Given the description of an element on the screen output the (x, y) to click on. 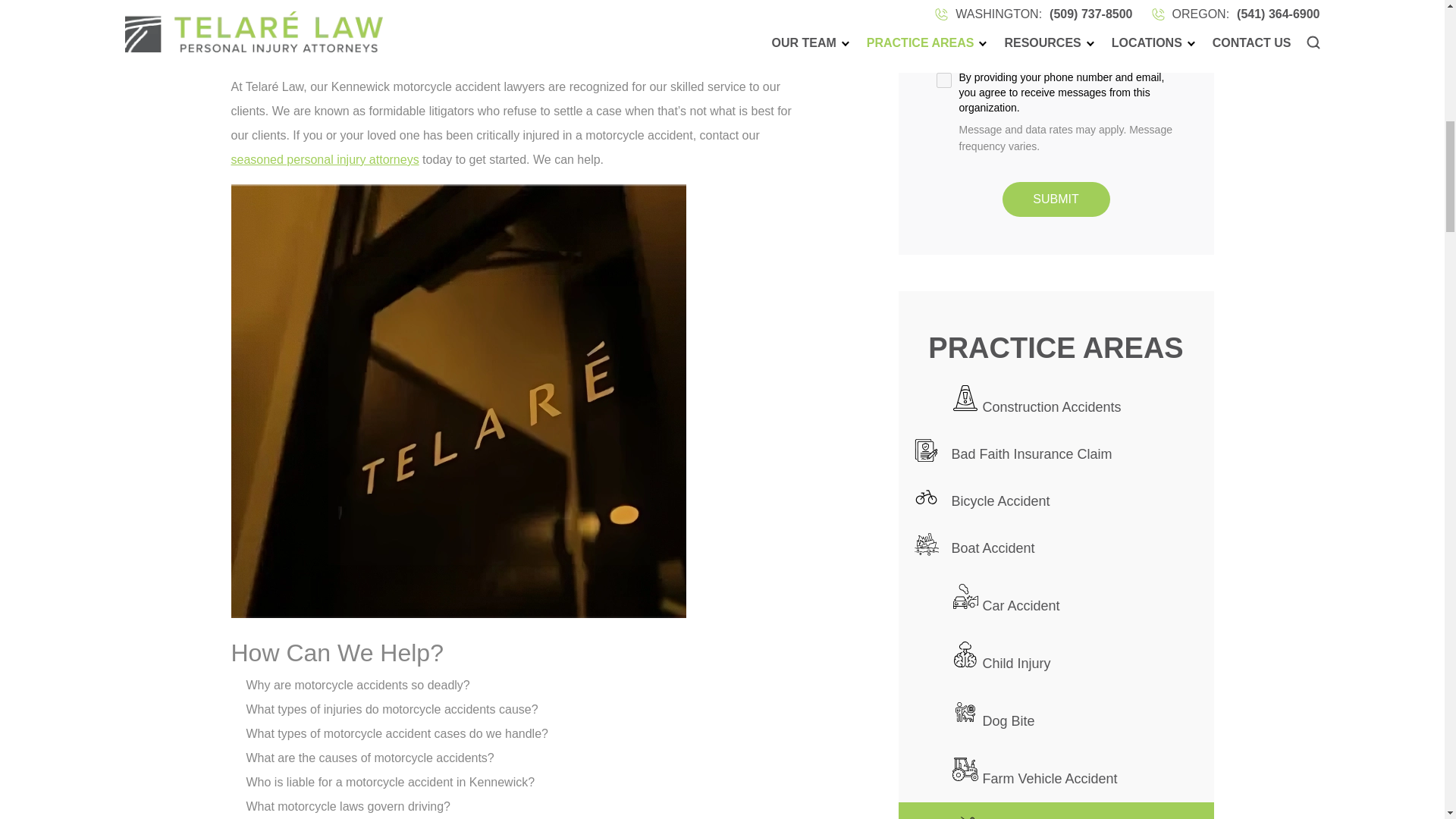
seasoned personal injury attorneys (324, 159)
SUBMIT (1056, 199)
